Given the description of an element on the screen output the (x, y) to click on. 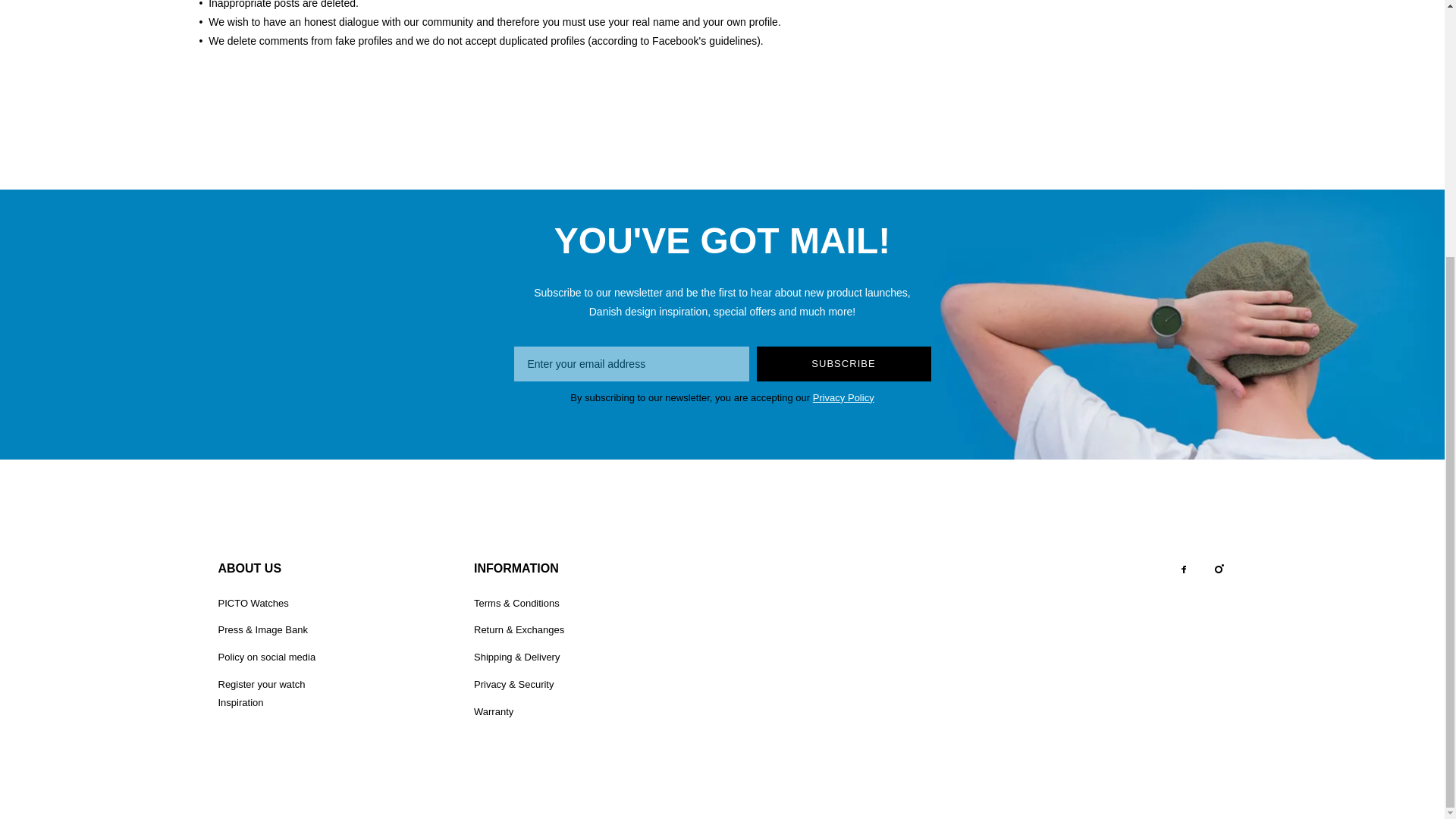
SUBSCRIBE (844, 363)
Privacy Policy (843, 397)
Subscribe (844, 363)
